Given the description of an element on the screen output the (x, y) to click on. 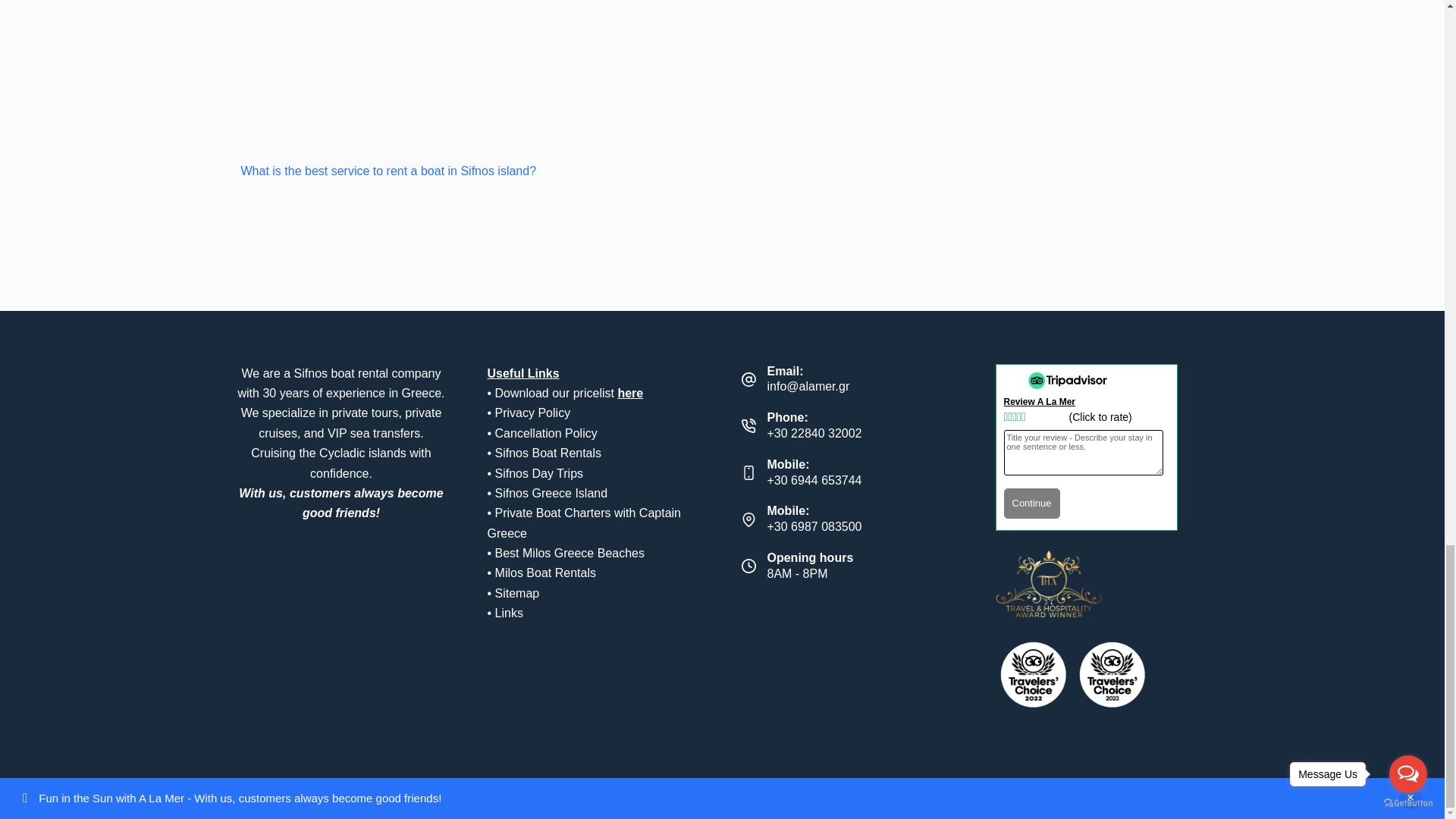
What is the best service to rent a boat in Sifnos island? (389, 170)
Sifnos boat rental (342, 373)
Continue (1031, 503)
